Given the description of an element on the screen output the (x, y) to click on. 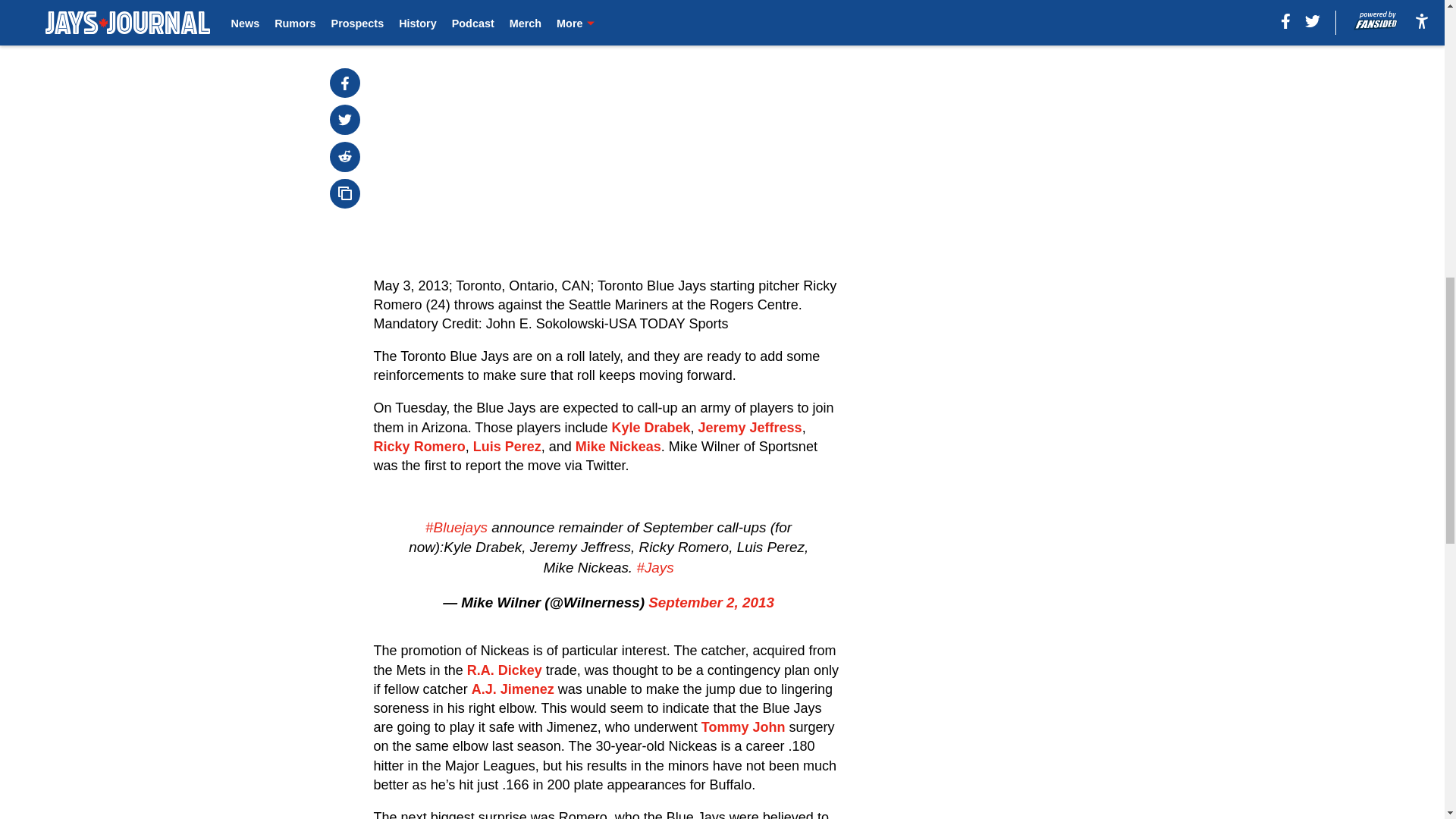
Kyle Drabek (650, 427)
Mike Nickeas (618, 446)
Jeremy Jeffress (750, 427)
September 2, 2013 (710, 602)
R.A. Dickey (504, 670)
Luis Perez (507, 446)
Ricky Romero (419, 446)
